Given the description of an element on the screen output the (x, y) to click on. 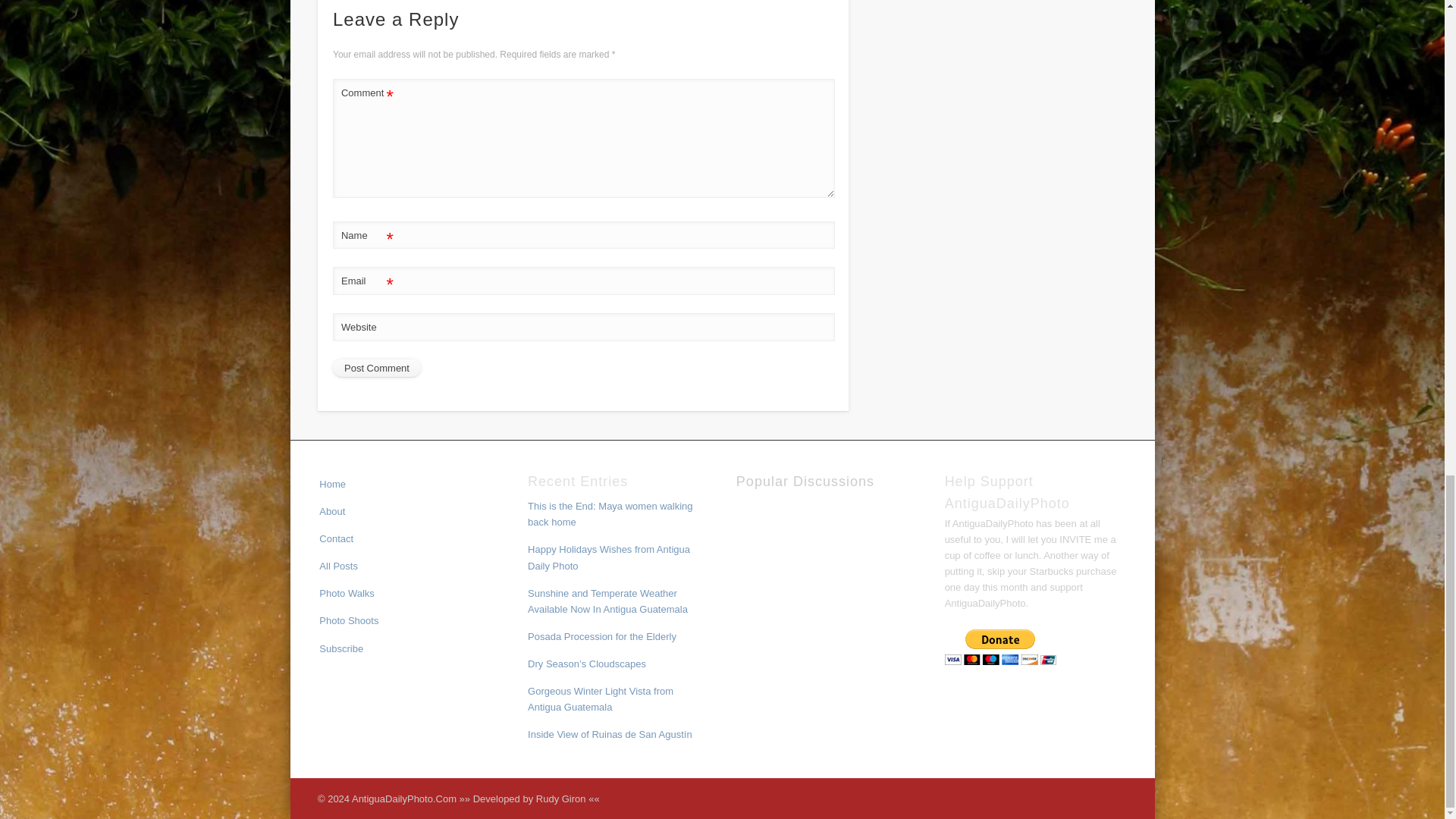
All Posts (338, 565)
Happy Holidays Wishes from Antigua Daily Photo (608, 556)
Post Comment (376, 368)
Contact (335, 538)
Post Comment (376, 368)
Subscribe (340, 647)
Home (332, 483)
Photo Shoots (348, 620)
This is the End: Maya women walking back home (610, 513)
Photo Walks (346, 593)
